Given the description of an element on the screen output the (x, y) to click on. 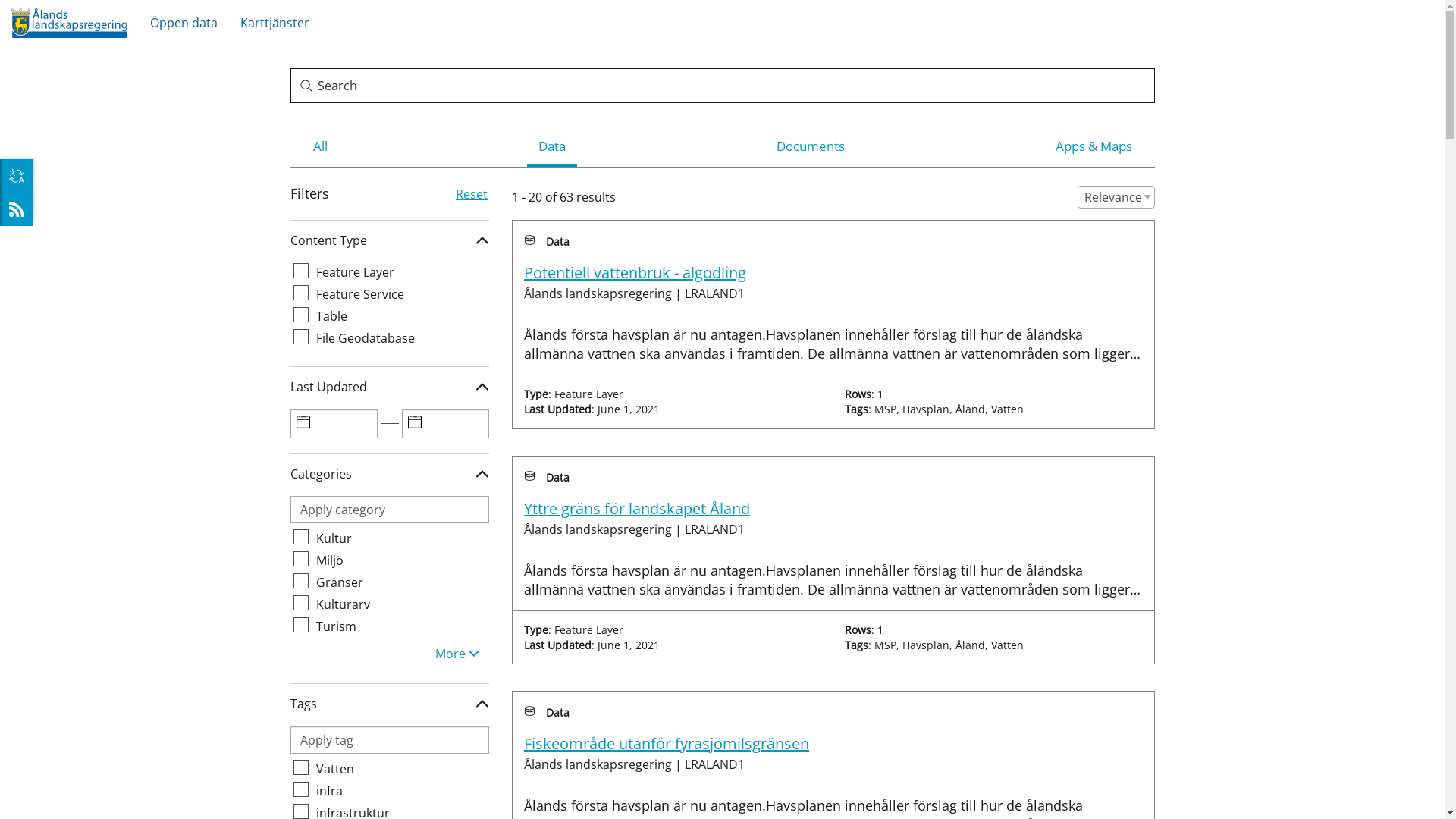
All Element type: text (319, 145)
Reset Element type: text (471, 193)
Documents Element type: text (809, 145)
Translate Element type: text (16, 175)
Potentiell vattenbruk - algodling Element type: text (635, 272)
Explore Feeds Element type: text (16, 208)
Apps & Maps Element type: text (1092, 145)
Data Element type: text (551, 145)
Submit Search Element type: text (305, 85)
